Given the description of an element on the screen output the (x, y) to click on. 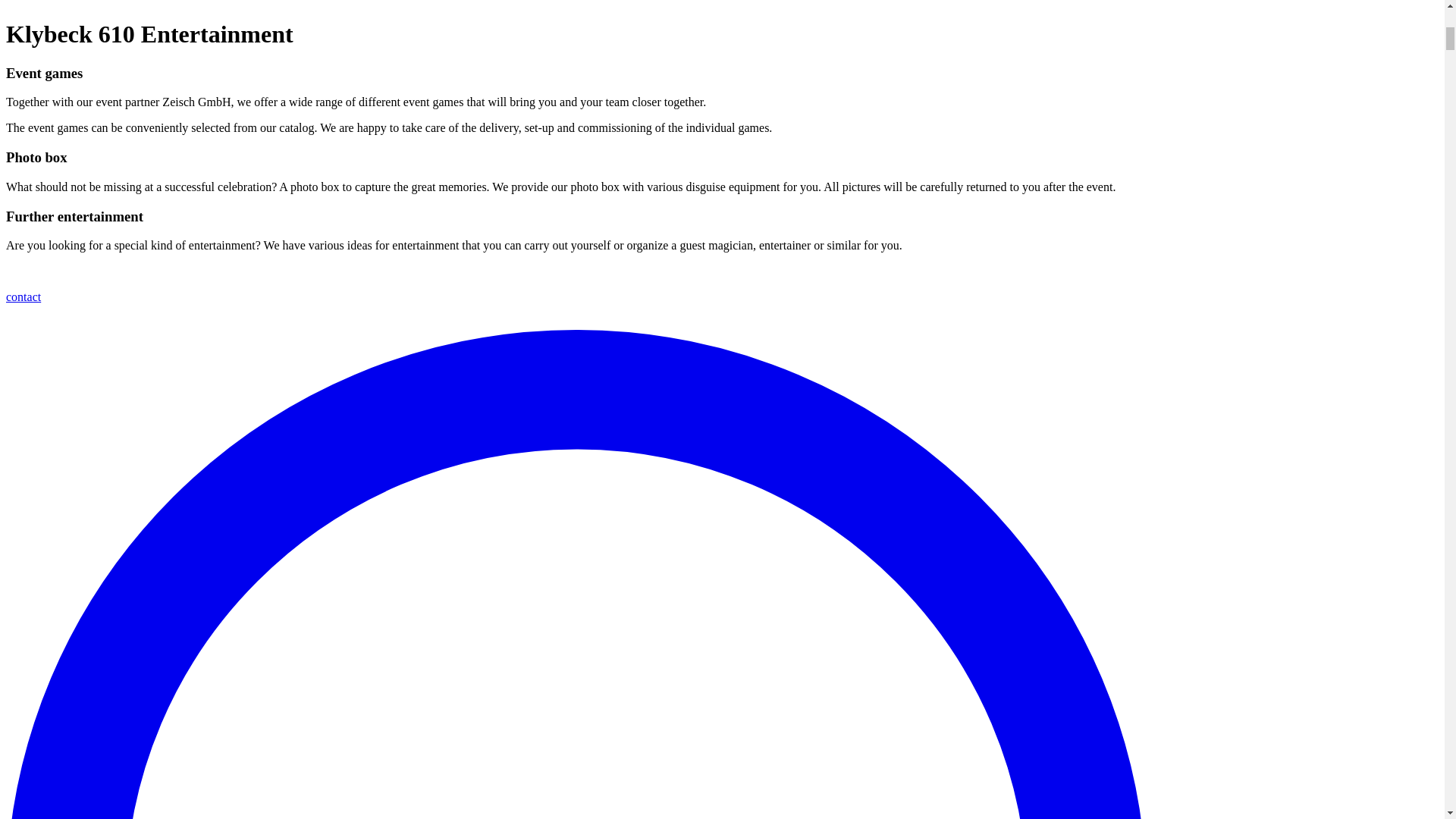
contact (22, 296)
